Given the description of an element on the screen output the (x, y) to click on. 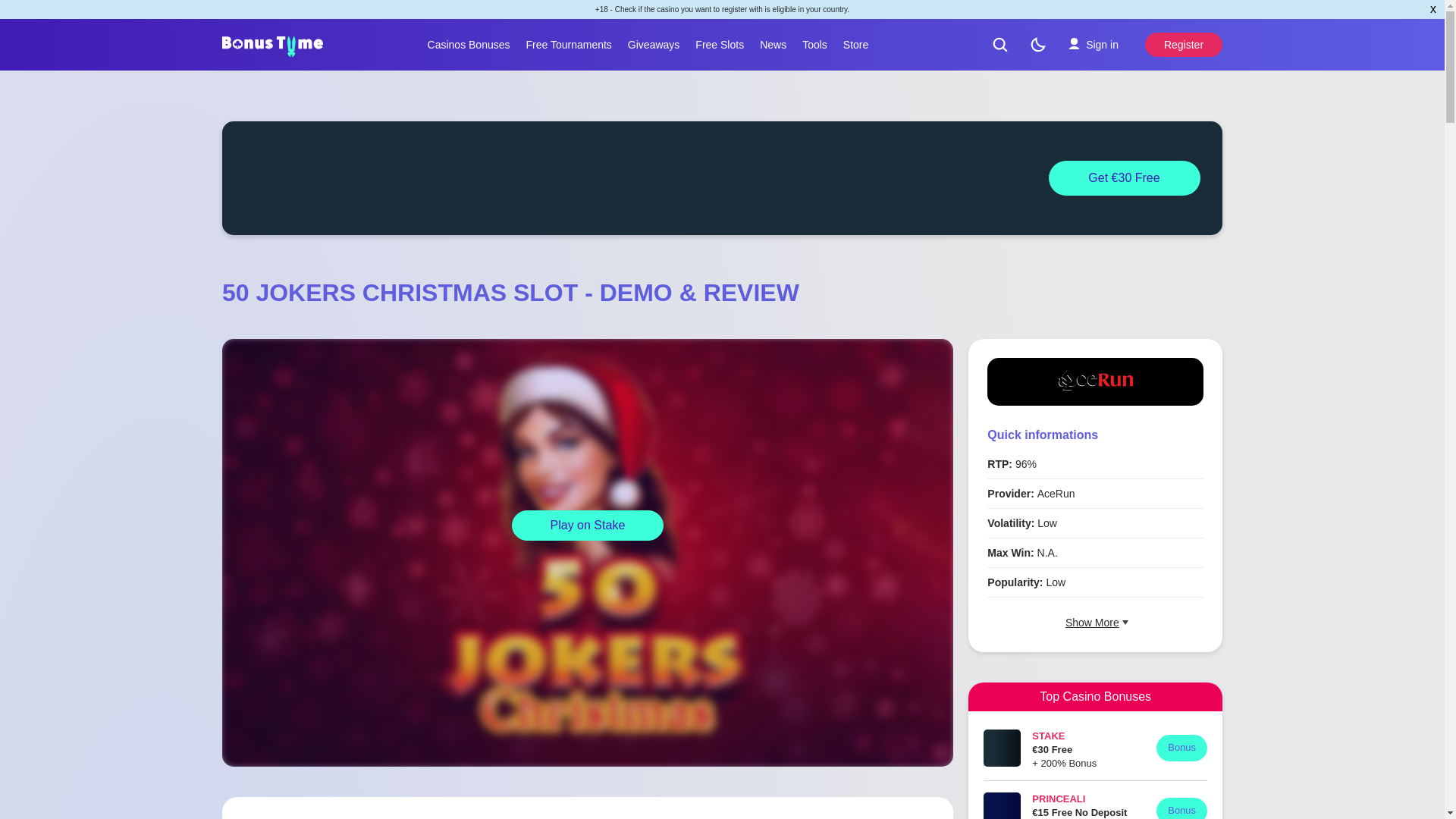
Register (1183, 43)
Sign in (1093, 43)
Casinos Bonuses (469, 43)
Free Tournaments (568, 43)
Giveaways (653, 43)
Free Slots (718, 43)
